Given the description of an element on the screen output the (x, y) to click on. 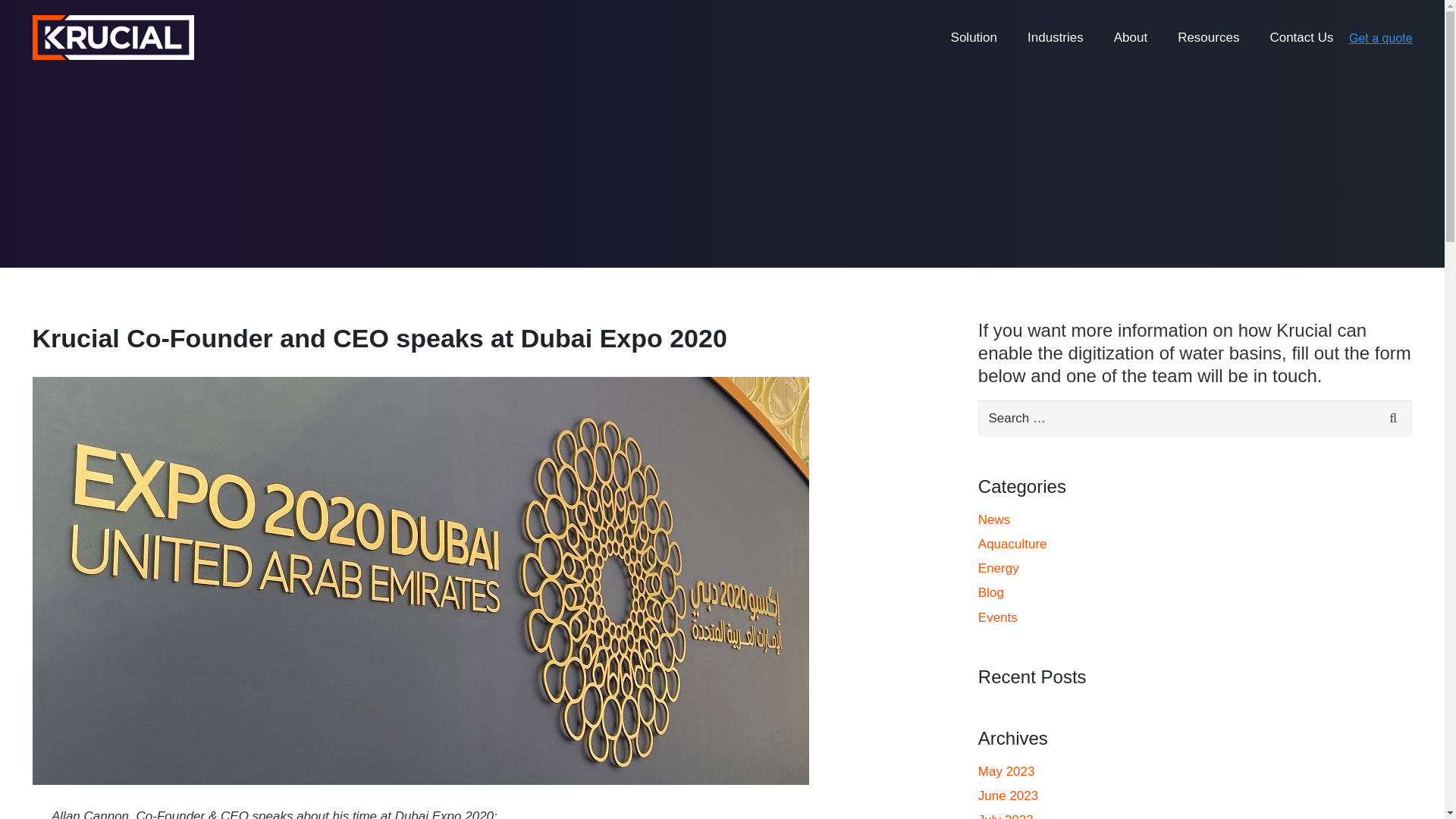
Contact Us (1300, 38)
Krucial (112, 37)
Solution (973, 38)
Industries (1055, 38)
Resources (1207, 38)
